Given the description of an element on the screen output the (x, y) to click on. 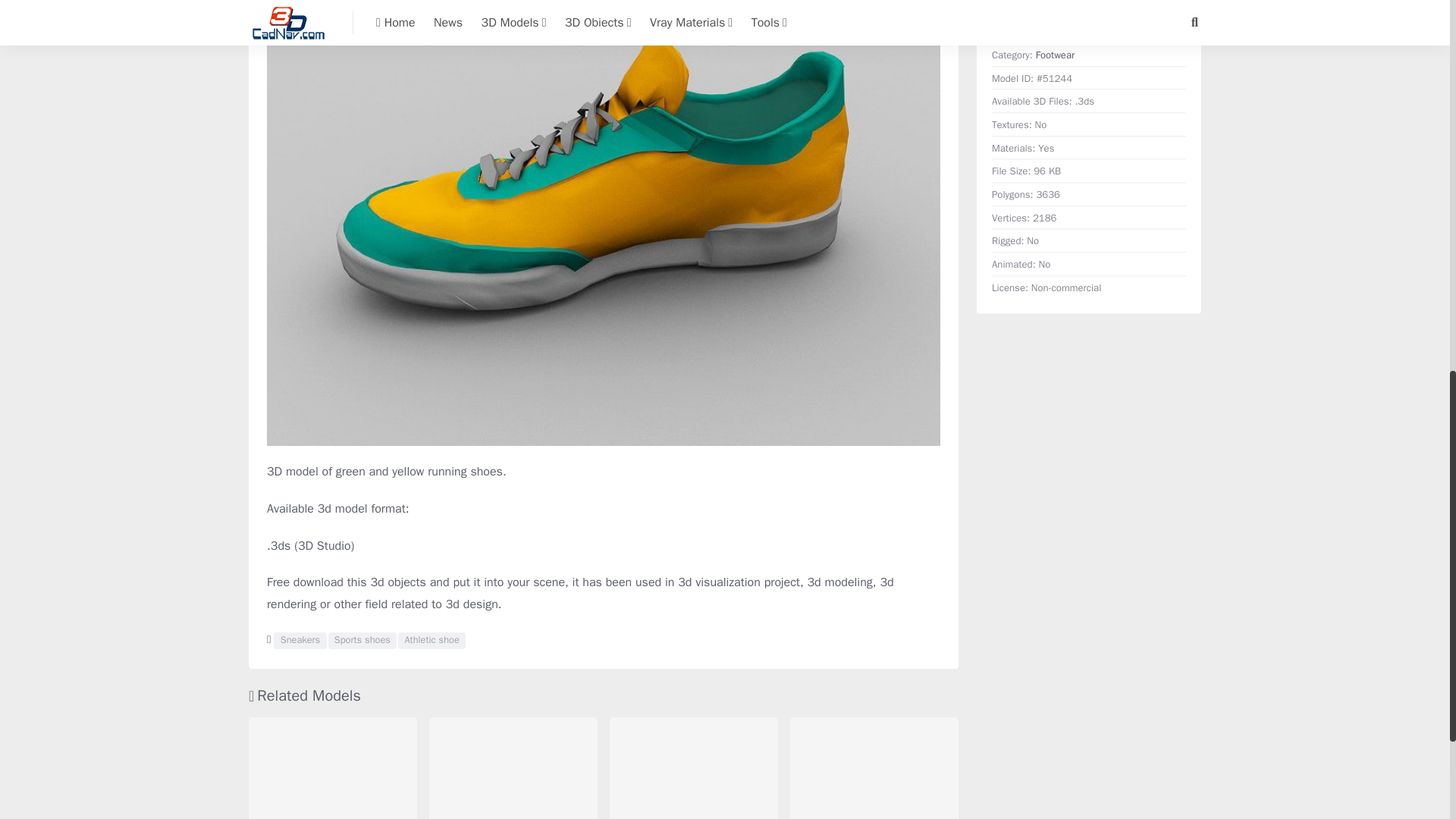
High heeled court shoes 3d model download (332, 768)
Athletic shoe 3d model (431, 640)
Sneakers 3d model (299, 640)
Pointed Toe Court Shoes 3d model download (512, 768)
download Green and Yellow Running Shoes 3d model (1088, 2)
Ankle boots 3d model download (874, 768)
Sports shoes 3d model (363, 640)
Men's running shoes blue 3d model download (693, 768)
